Given the description of an element on the screen output the (x, y) to click on. 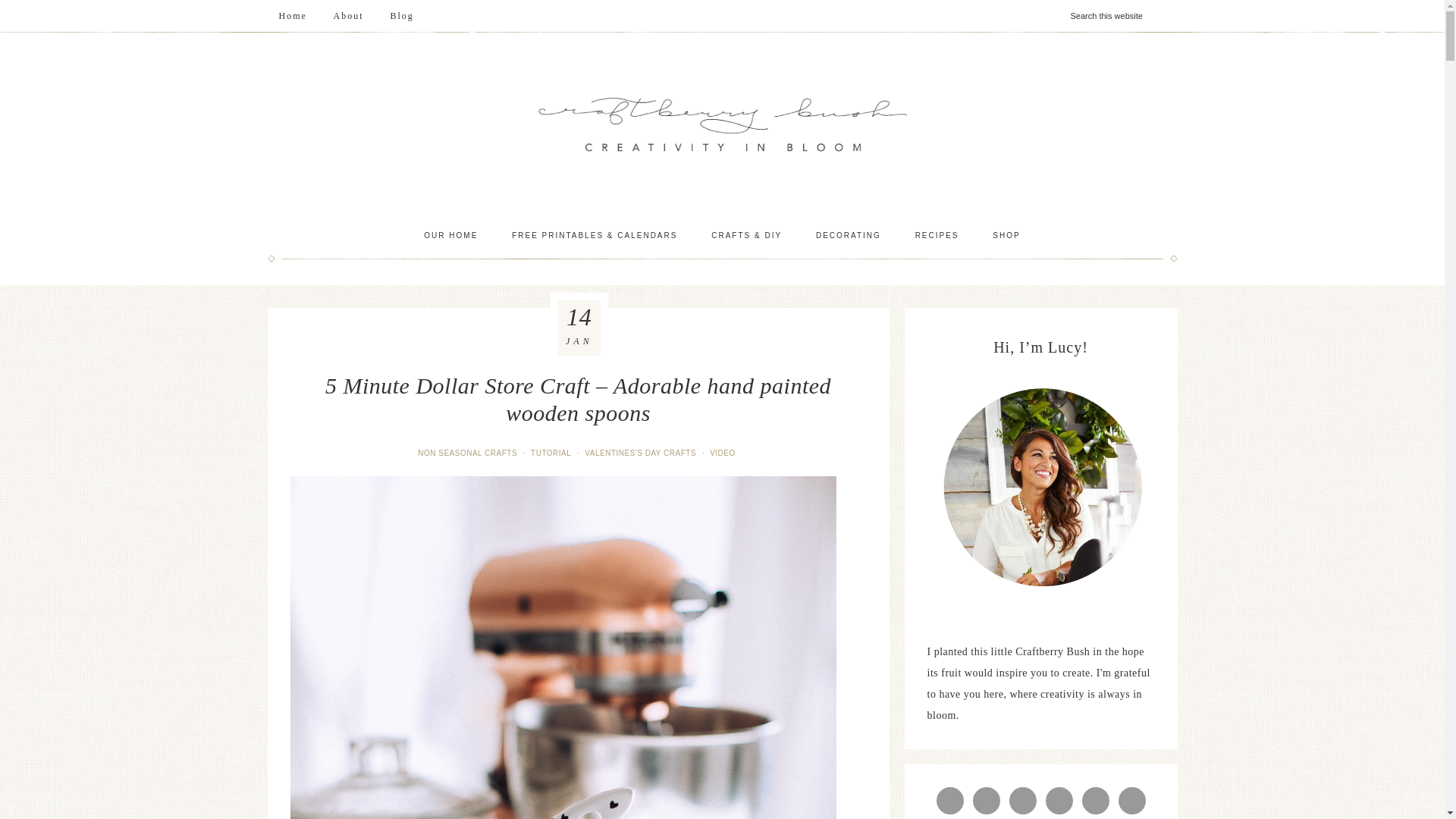
About (348, 15)
OUR HOME (451, 235)
RECIPES (936, 235)
CRAFTBERRY BUSH (722, 124)
Home (291, 15)
DECORATING (848, 235)
Blog (401, 15)
